Given the description of an element on the screen output the (x, y) to click on. 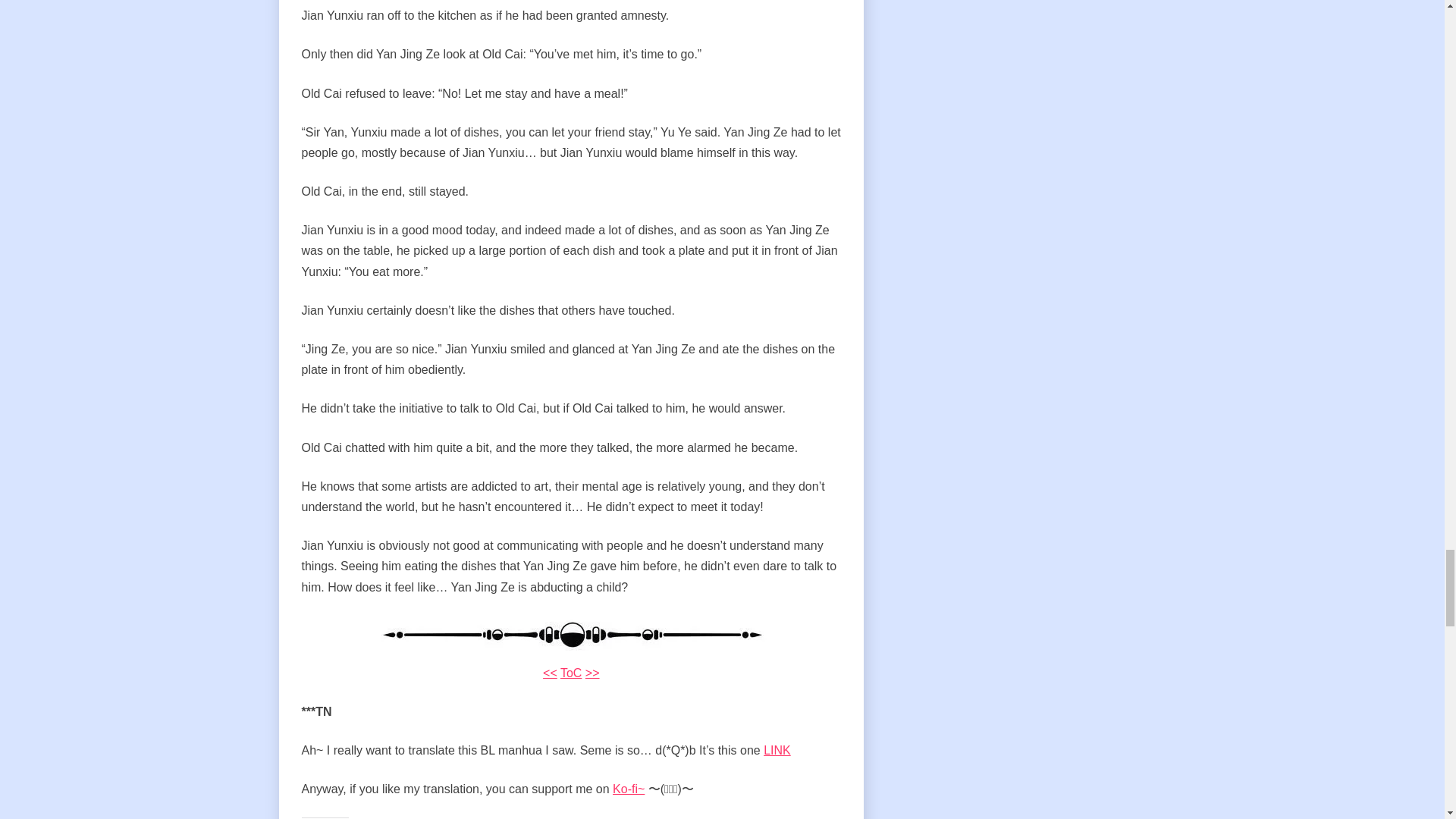
ToC (570, 672)
LINK (776, 749)
